Given the description of an element on the screen output the (x, y) to click on. 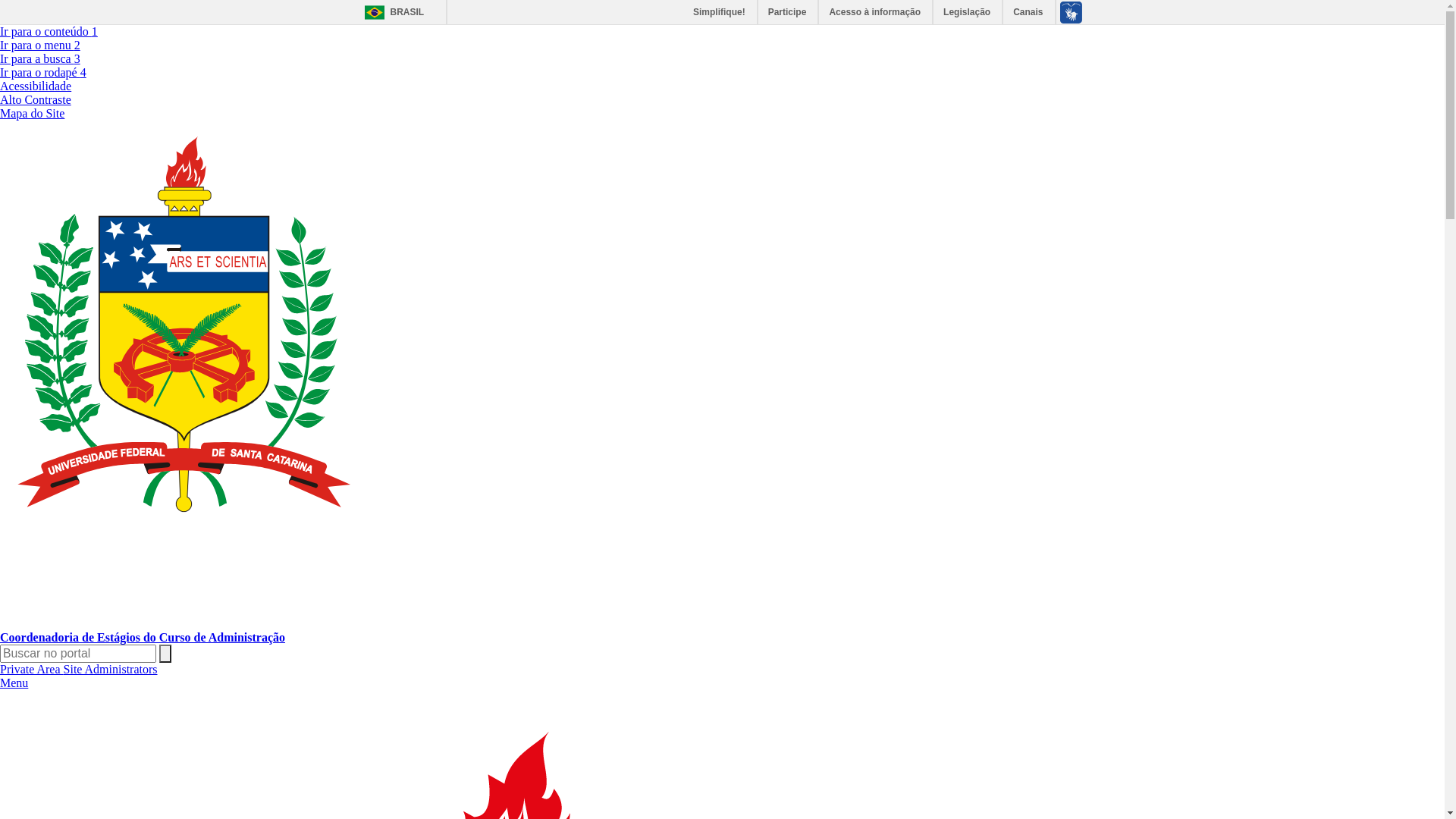
Participe Element type: text (788, 11)
Menu Element type: text (14, 682)
Acessibilidade Element type: text (35, 85)
Alto Contraste Element type: text (35, 99)
Site Administrators Element type: text (110, 668)
Simplifique! Element type: text (719, 11)
Private Area Element type: text (31, 668)
BRASIL Element type: text (389, 12)
Ir para o menu 2 Element type: text (40, 44)
Mapa do Site Element type: text (32, 112)
Ir para a busca 3 Element type: text (40, 58)
Canais Element type: text (1028, 11)
